Given the description of an element on the screen output the (x, y) to click on. 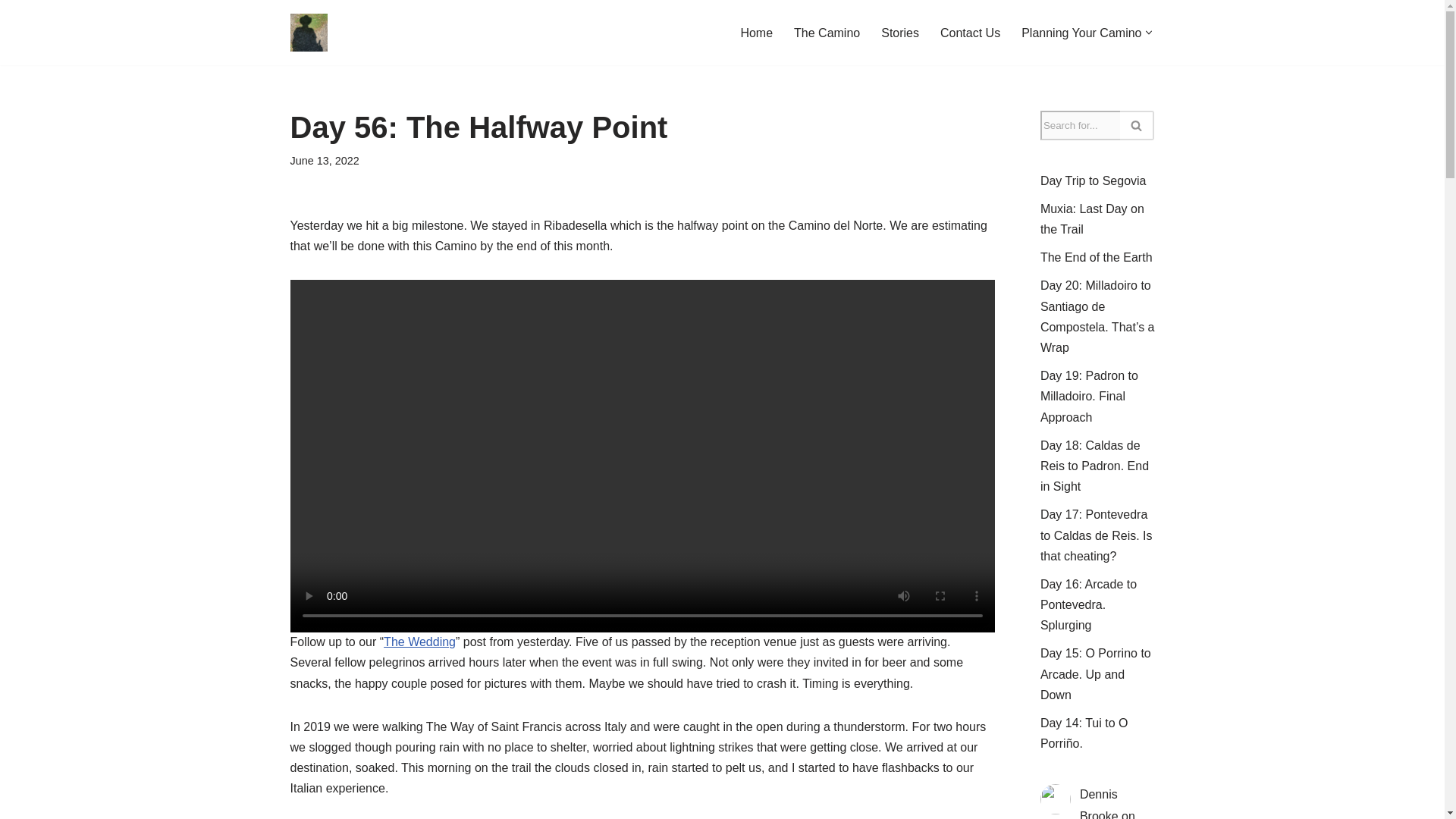
The Wedding (419, 641)
Day 16: Arcade to Pontevedra. Splurging (1089, 604)
Contact Us (970, 32)
Skip to content (11, 31)
Day 18: Caldas de Reis to Padron. End in Sight (1094, 465)
Muxia: Last Day on the Trail (1092, 218)
Planning Your Camino (1081, 32)
Home (756, 32)
Day 15: O Porrino to Arcade. Up and Down (1096, 674)
The End of the Earth (1097, 256)
